Given the description of an element on the screen output the (x, y) to click on. 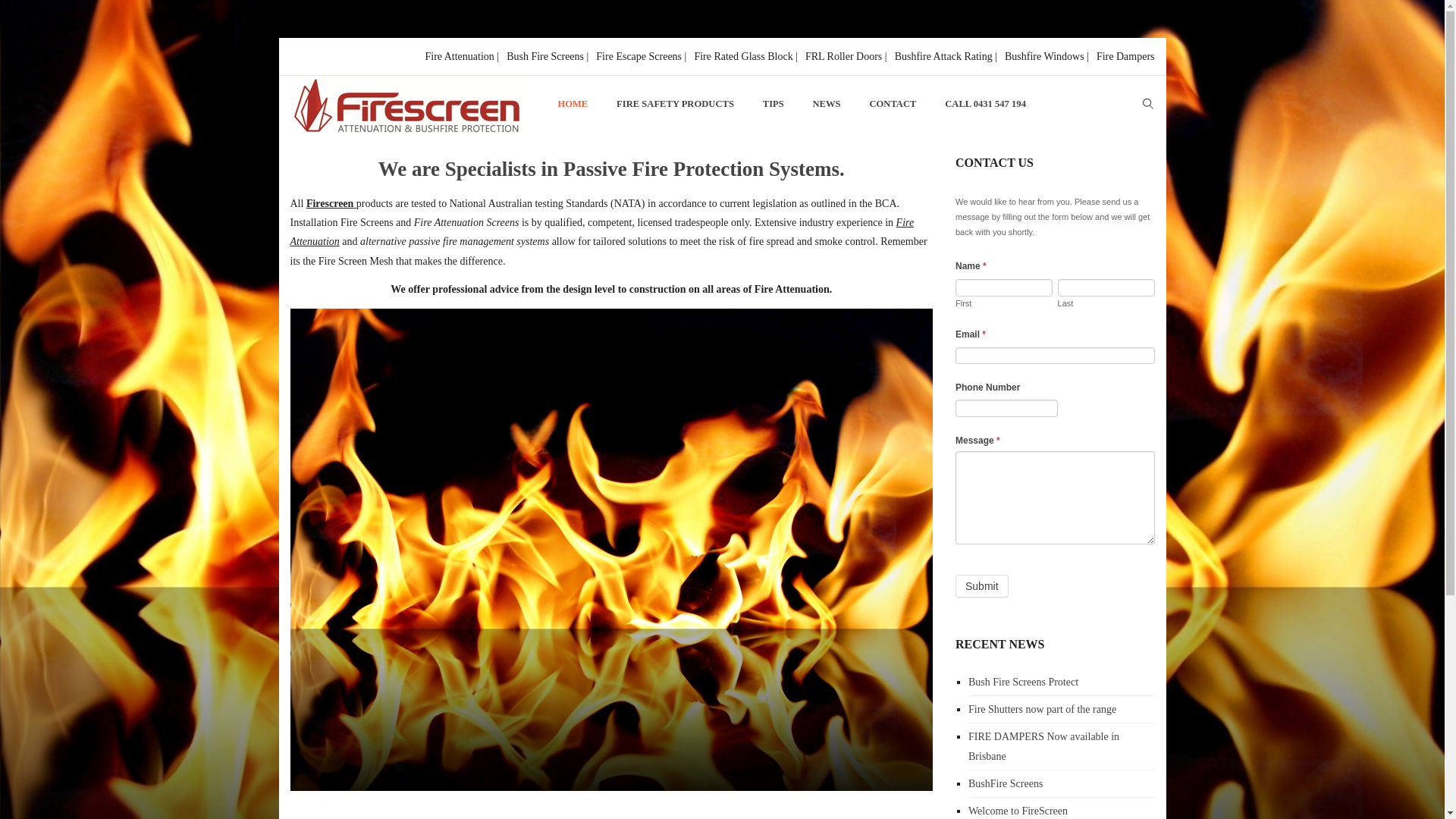
Fire Dampers Element type: text (1123, 56)
Welcome to FireScreen Element type: text (1017, 810)
CONTACT Element type: text (893, 104)
Bushfire Attack Rating | Element type: text (946, 56)
BushFire Screens Element type: text (1005, 783)
FIRE SAFETY PRODUCTS Element type: text (675, 104)
NEWS Element type: text (826, 104)
Fire Escape Screens | Element type: text (641, 56)
Bush Fire Screens | Element type: text (547, 56)
FRL Roller Doors | Element type: text (846, 56)
Bush Fire Screens Protect Element type: text (1023, 681)
CALL 0431 547 194 Element type: text (985, 104)
FIRE DAMPERS Now available in Brisbane Element type: text (1043, 746)
Bushfire Windows | Element type: text (1046, 56)
HOME Element type: text (572, 104)
TIPS Element type: text (773, 104)
Fire Attenuation | Element type: text (461, 56)
Fire Shutters now part of the range Element type: text (1042, 709)
Submit Element type: text (981, 585)
Fire Rated Glass Block | Element type: text (745, 56)
